Given the description of an element on the screen output the (x, y) to click on. 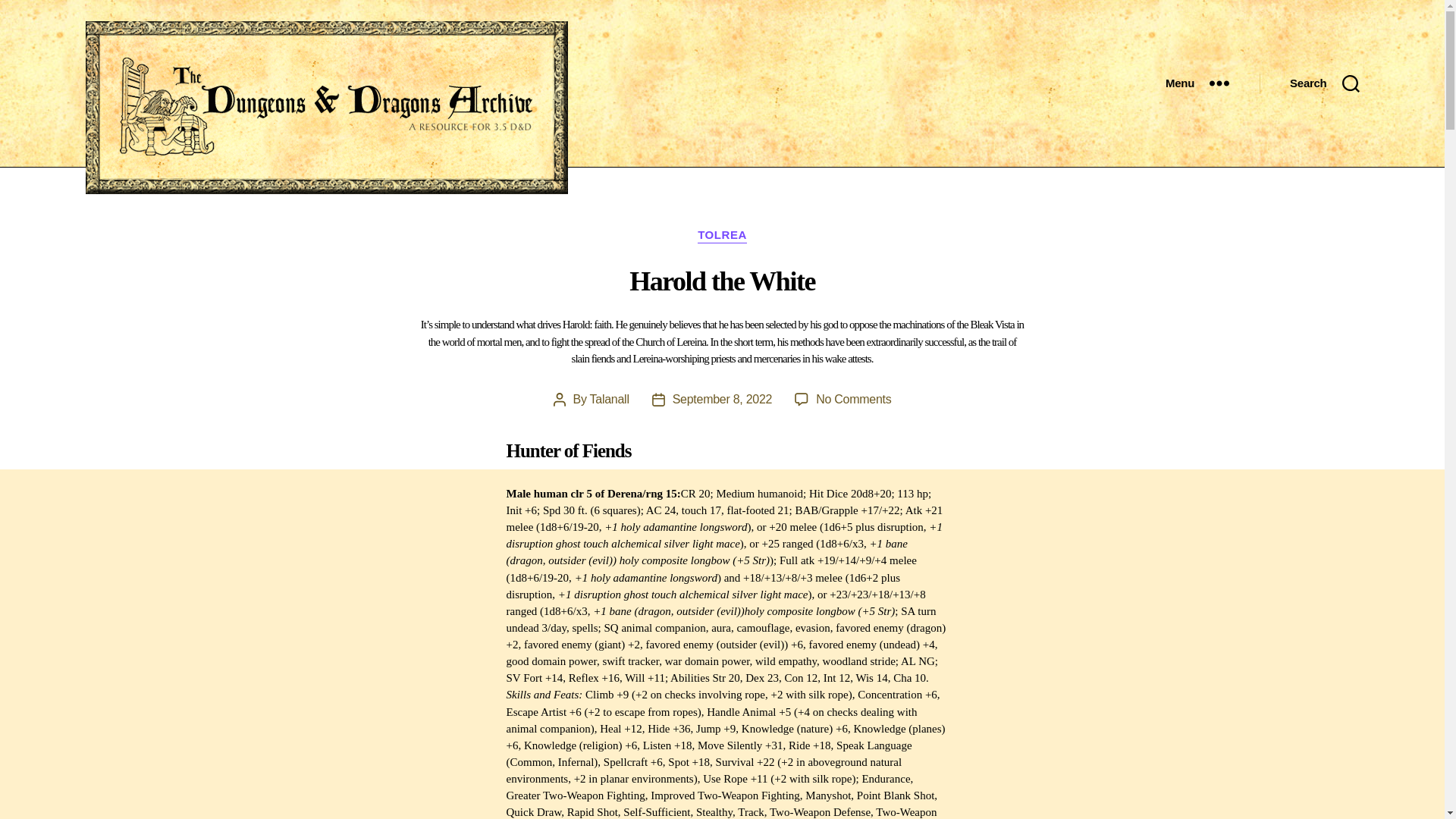
September 8, 2022 (853, 399)
Search (722, 399)
Talanall (1324, 82)
Menu (608, 399)
TOLREA (1197, 82)
